Given the description of an element on the screen output the (x, y) to click on. 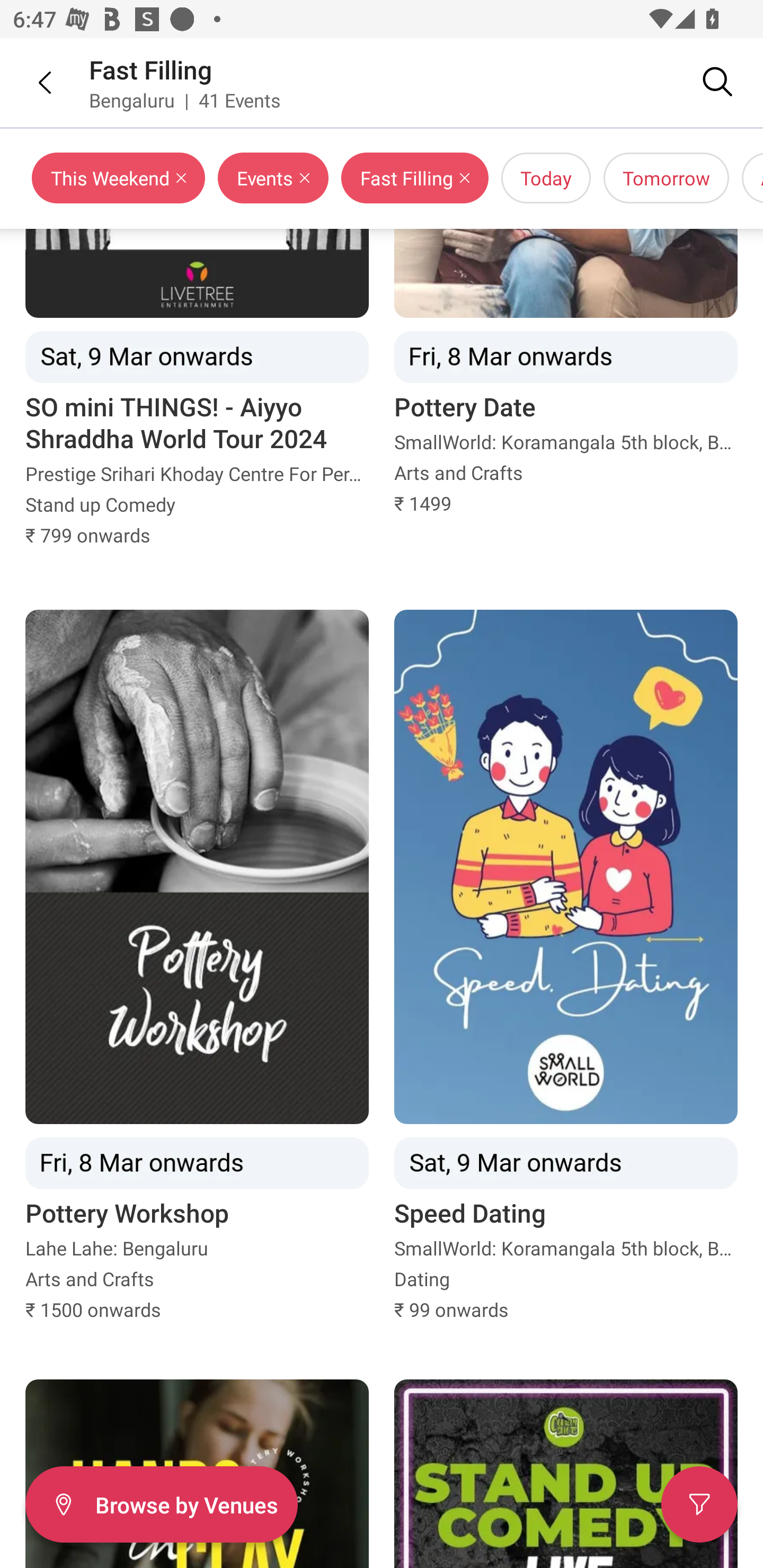
Back (31, 82)
Fast Filling (150, 68)
Bengaluru  |  41 Events (185, 99)
This Weekend Close (118, 177)
Events Close (272, 177)
Fast Filling Close (414, 177)
Today (545, 177)
Tomorrow (666, 177)
Filter Browse by Venues (161, 1504)
Filter (699, 1504)
